Given the description of an element on the screen output the (x, y) to click on. 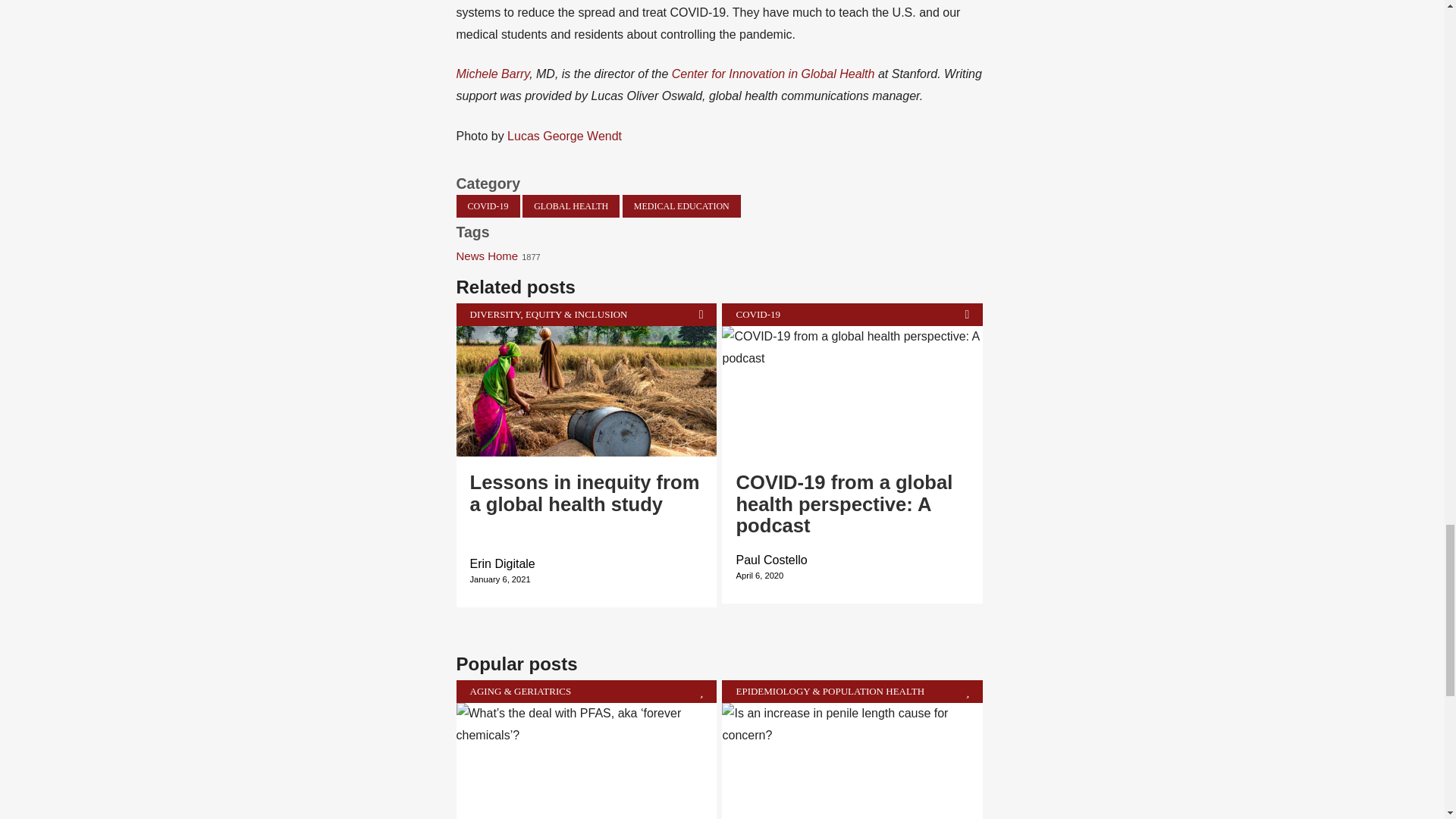
Lucas George Wendt (563, 135)
Center for Innovation in Global Health (773, 73)
Michele Barry (493, 73)
COVID-19 (488, 205)
